Given the description of an element on the screen output the (x, y) to click on. 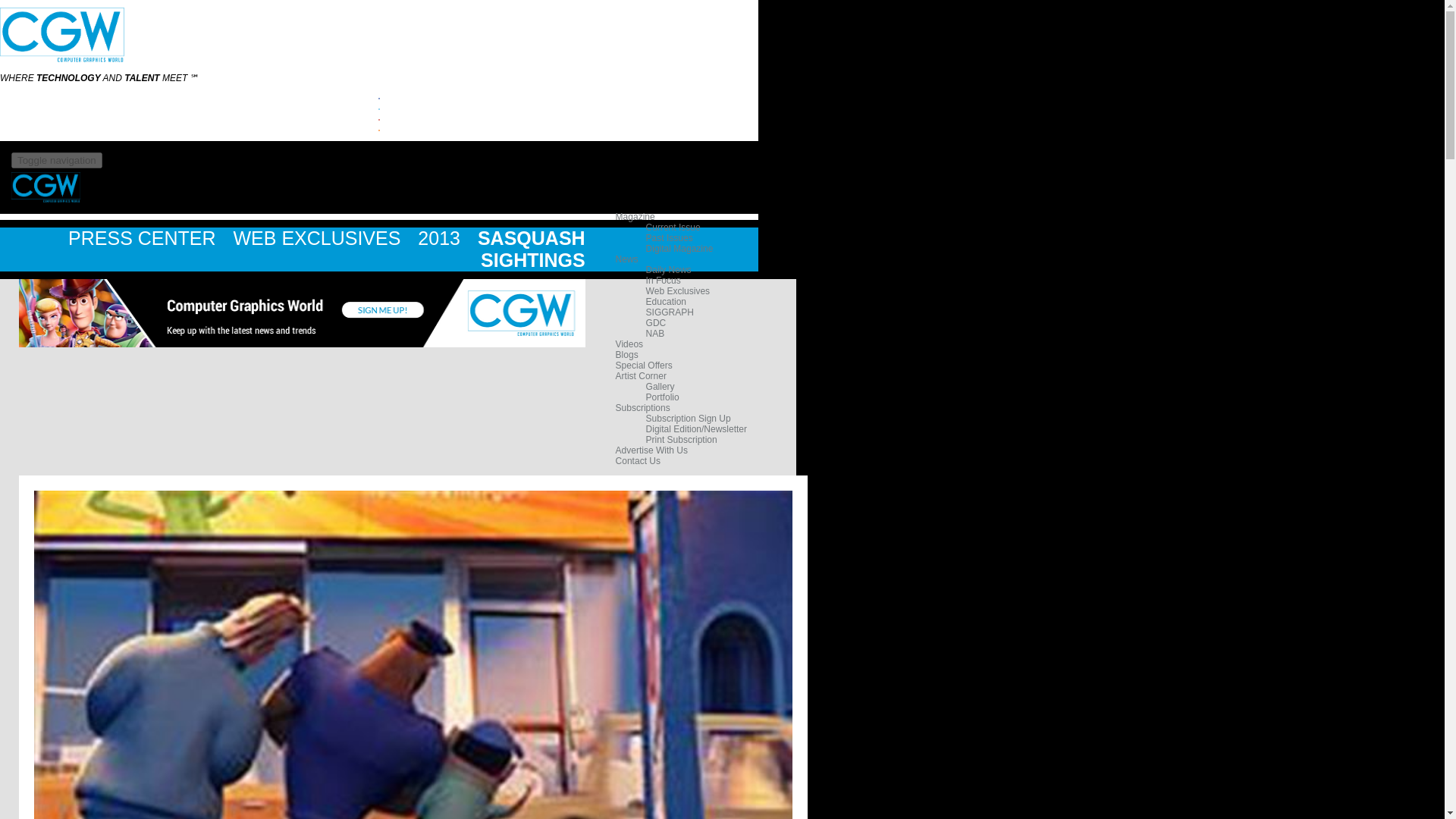
Videos (629, 344)
Blogs (627, 354)
Special Offers (643, 365)
Past Issues (669, 237)
Artist Corner (640, 376)
Print Subscription (681, 439)
2013 (441, 237)
GDC (656, 322)
WEB EXCLUSIVES (319, 237)
PRESS CENTER (144, 237)
Gallery (660, 386)
Magazine (635, 216)
Subscriptions (642, 407)
Subscription Sign Up (688, 418)
Education (665, 301)
